Given the description of an element on the screen output the (x, y) to click on. 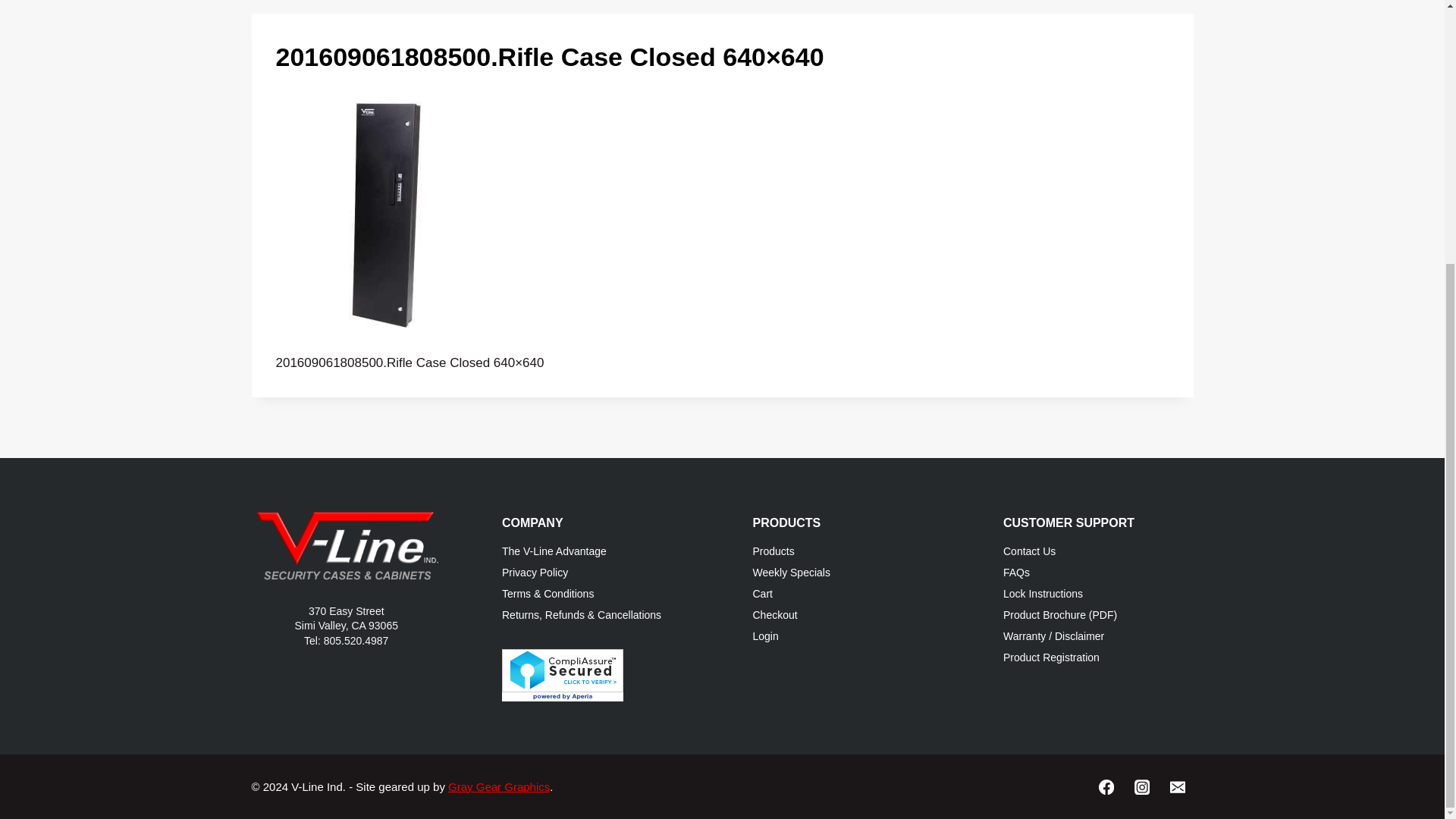
The V-Line Advantage (597, 551)
Privacy Policy (597, 572)
